Given the description of an element on the screen output the (x, y) to click on. 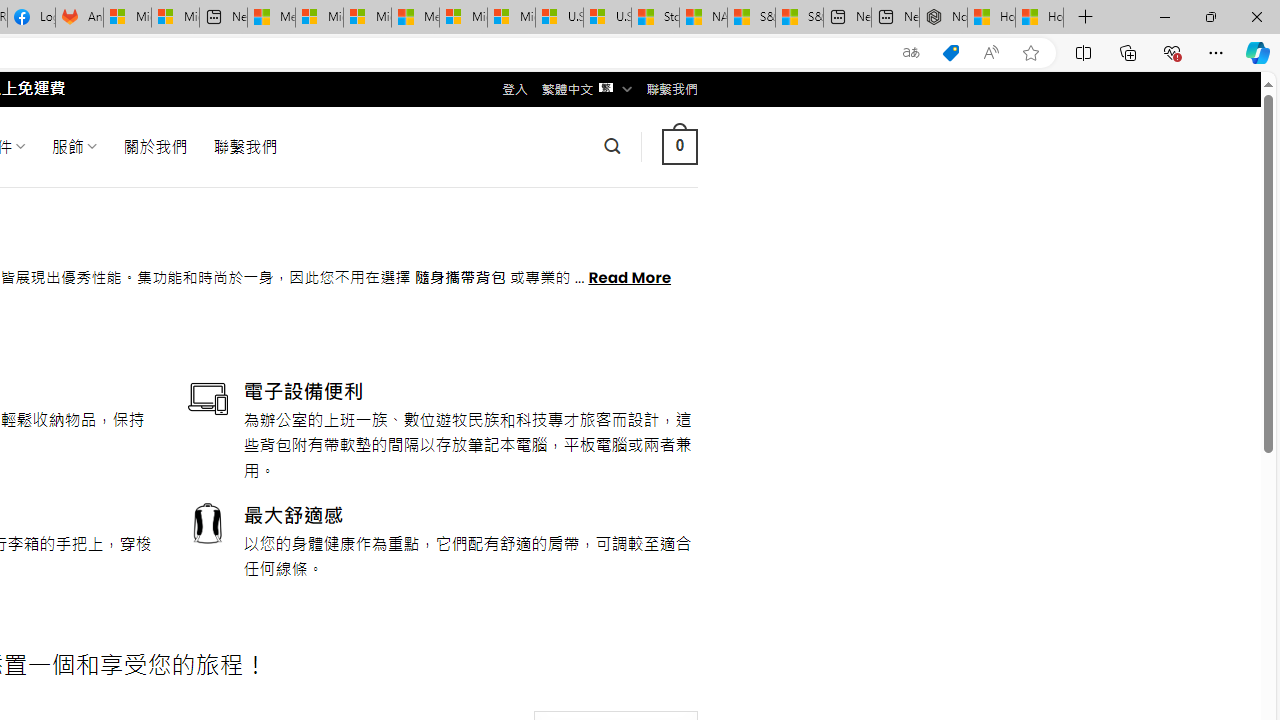
S&P 500, Nasdaq end lower, weighed by Nvidia dip | Watch (799, 17)
 0  (679, 146)
This site has coupons! Shopping in Microsoft Edge (950, 53)
